Given the description of an element on the screen output the (x, y) to click on. 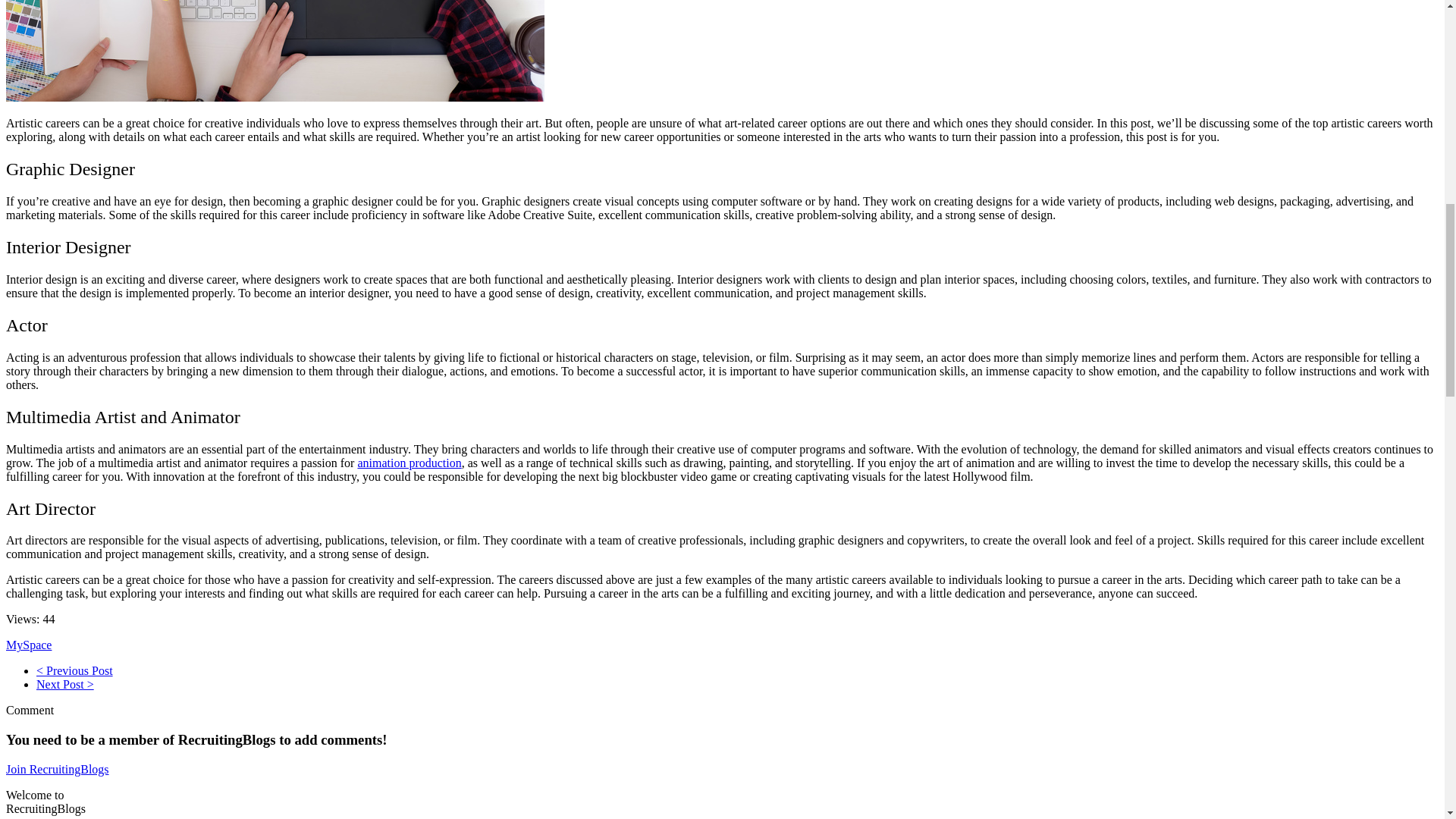
Keeping on Top of Your Extermination Career (65, 684)
MySpace (27, 644)
What to Do and Where to Go When Looking for a Job (74, 670)
Join RecruitingBlogs (57, 768)
animation production (408, 462)
